Given the description of an element on the screen output the (x, y) to click on. 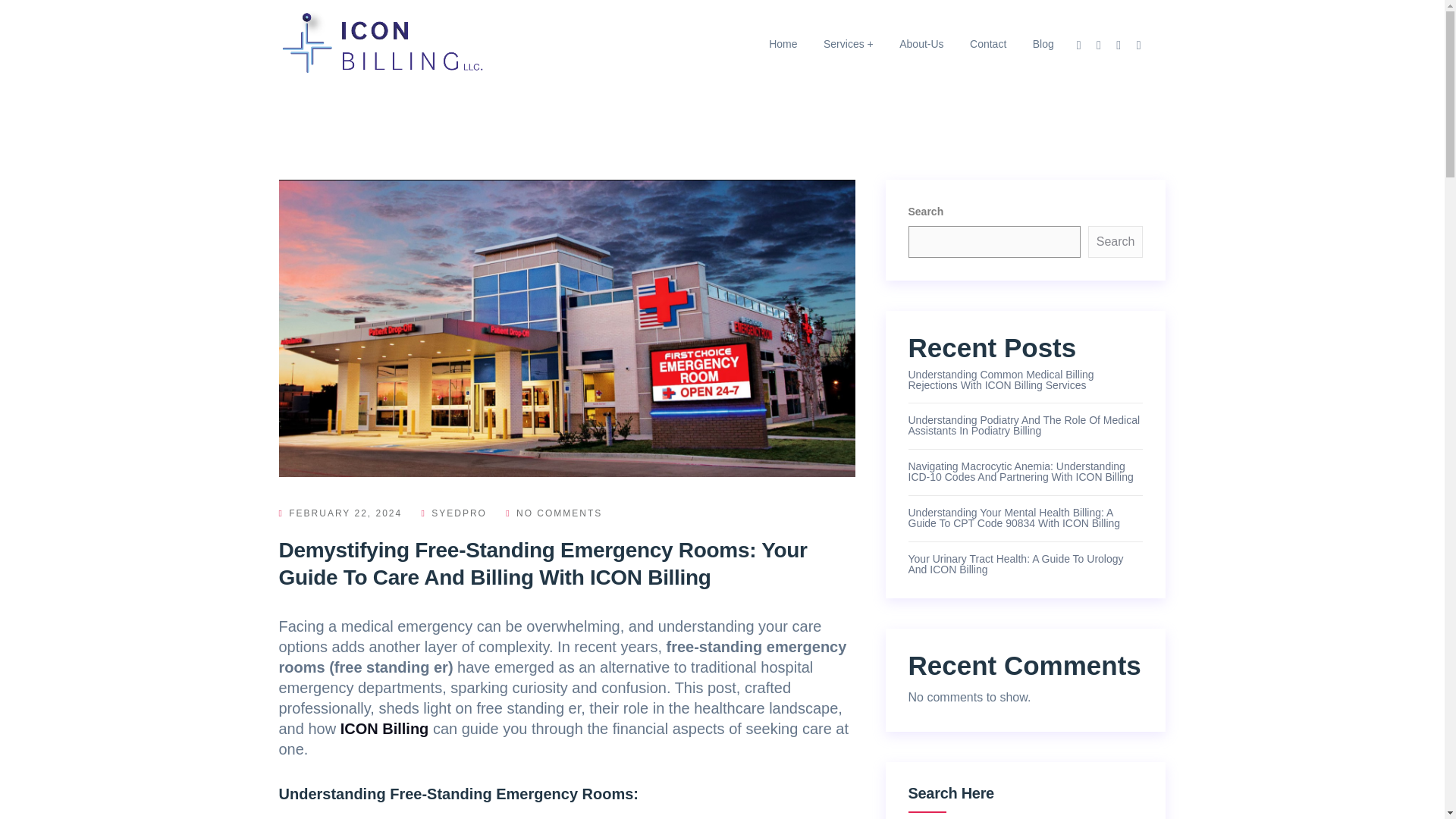
SYEDPRO (454, 512)
NO COMMENTS (553, 512)
ICON Billing (384, 728)
